Given the description of an element on the screen output the (x, y) to click on. 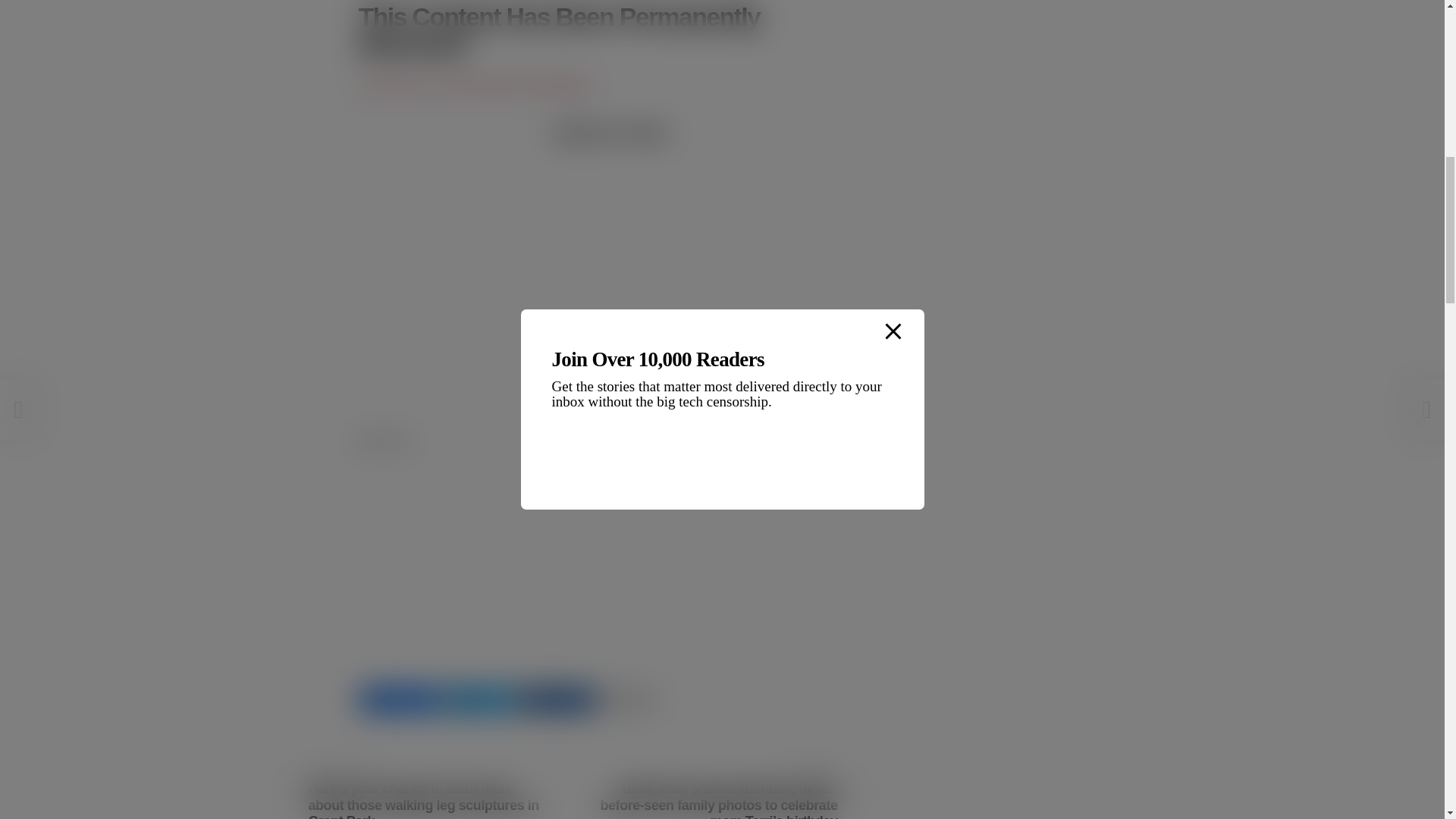
More (629, 699)
Facebook (398, 699)
LinkedIn (556, 699)
Click Here to visit the Rare Homepage. (476, 84)
Twitter (478, 699)
